Given the description of an element on the screen output the (x, y) to click on. 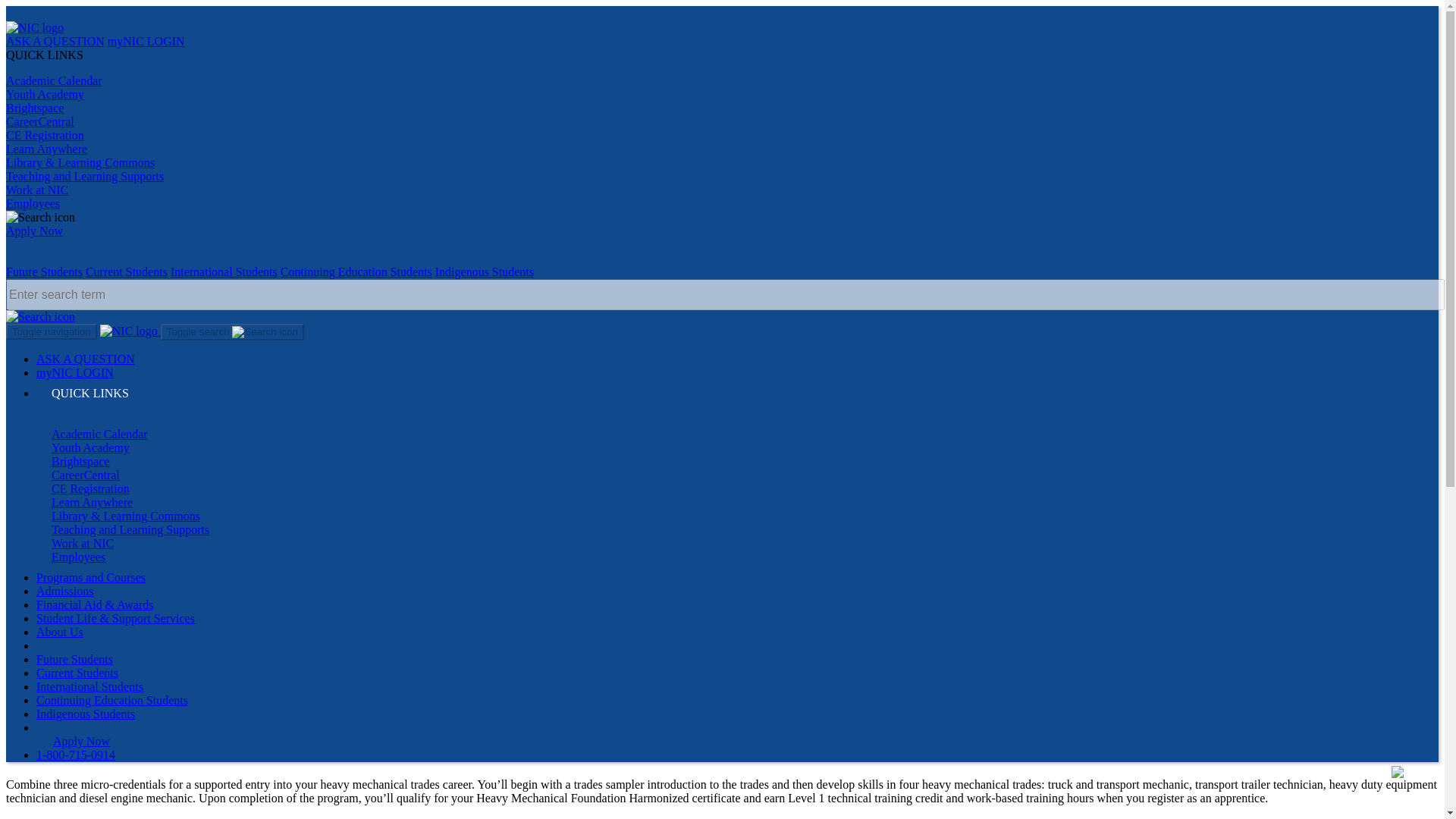
International Students (224, 271)
Youth Academy (89, 447)
Employees (32, 203)
Employees (77, 556)
Learn Anywhere (46, 148)
myNIC LOGIN (74, 372)
Brightspace (34, 107)
Learn Anywhere (91, 502)
Indigenous Students (484, 271)
Toggle search (232, 331)
ASK A QUESTION (85, 358)
CareerCentral (84, 474)
Brightspace (79, 461)
Admissions (65, 590)
Work at NIC (81, 543)
